Given the description of an element on the screen output the (x, y) to click on. 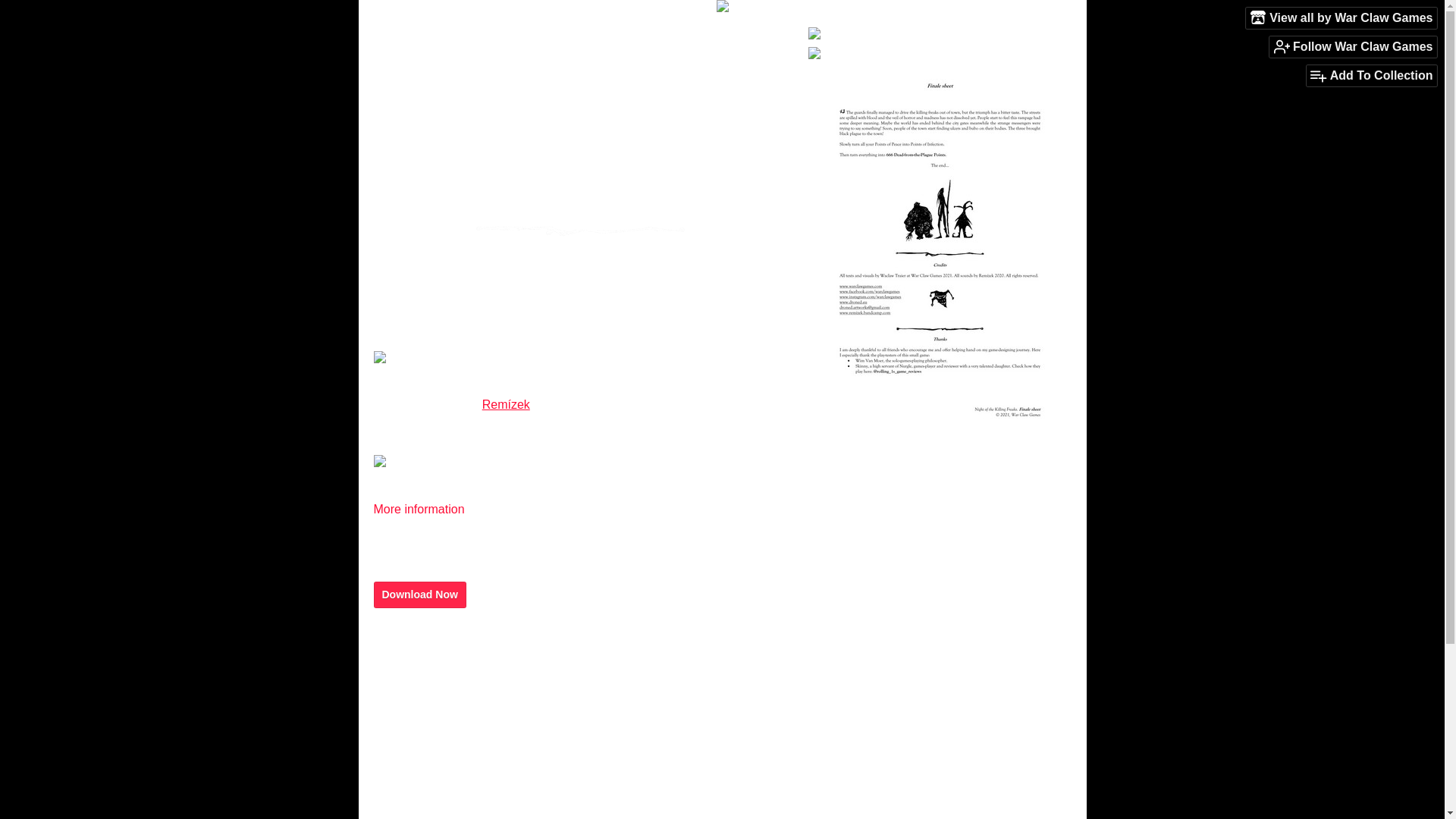
Game plan LETTER.pdf (440, 734)
Soundtrack cover.jpg (434, 758)
View all by War Claw Games (1341, 17)
Game plan A4.pdf (424, 684)
Add To Collection (1371, 75)
More information (424, 508)
Download Now (418, 594)
Game booklet LETTER.pdf (448, 708)
Follow War Claw Games (1353, 46)
Game booklet A4.pdf (432, 658)
